Given the description of an element on the screen output the (x, y) to click on. 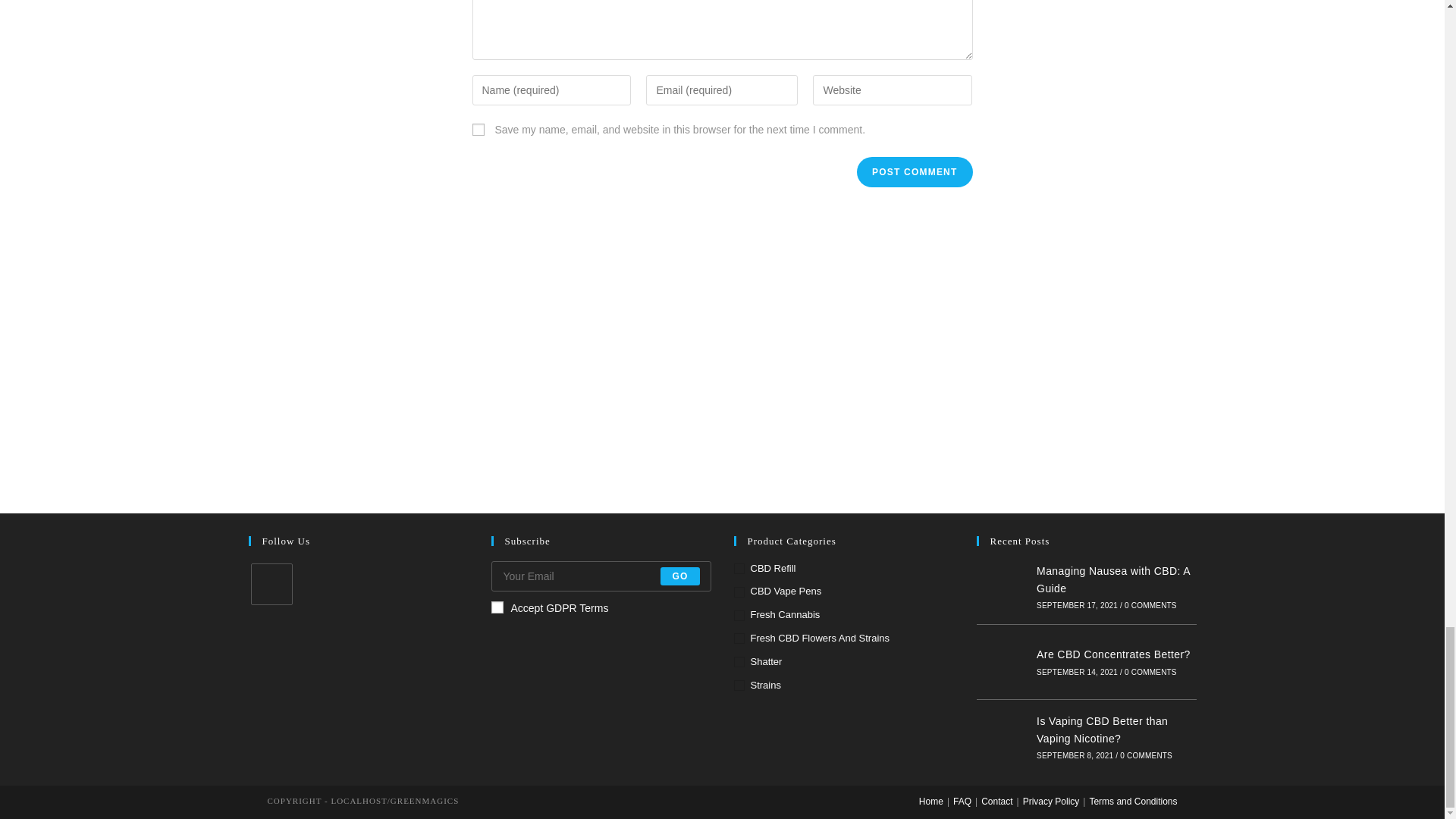
Managing Nausea with CBD: A Guide (1001, 586)
yes (477, 129)
Are CBD Concentrates Better? (1001, 661)
Is Vaping CBD Better than Vaping Nicotine? (1001, 736)
Post Comment (914, 172)
1 (497, 607)
